Given the description of an element on the screen output the (x, y) to click on. 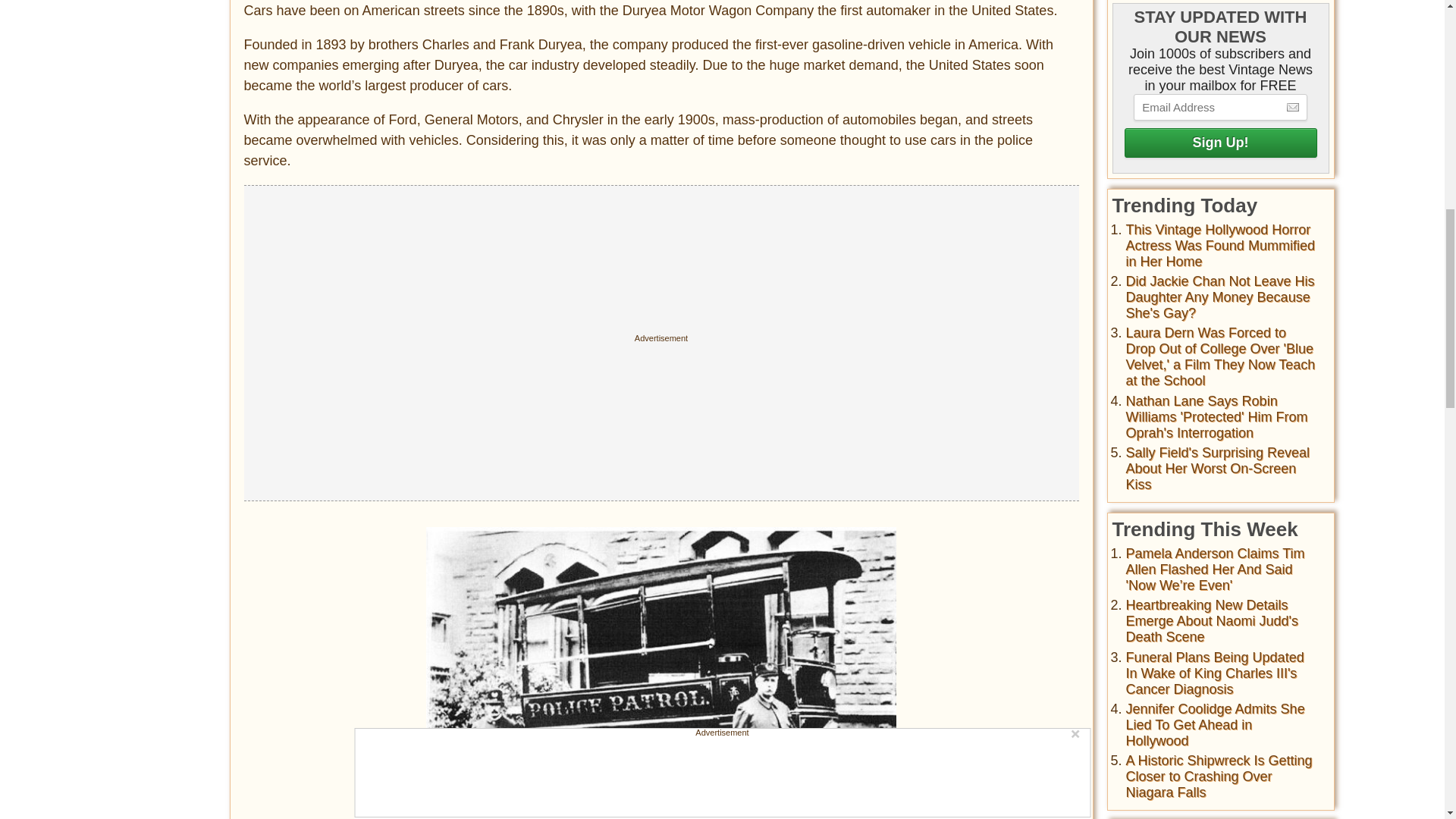
Sign Up! (1220, 142)
